Given the description of an element on the screen output the (x, y) to click on. 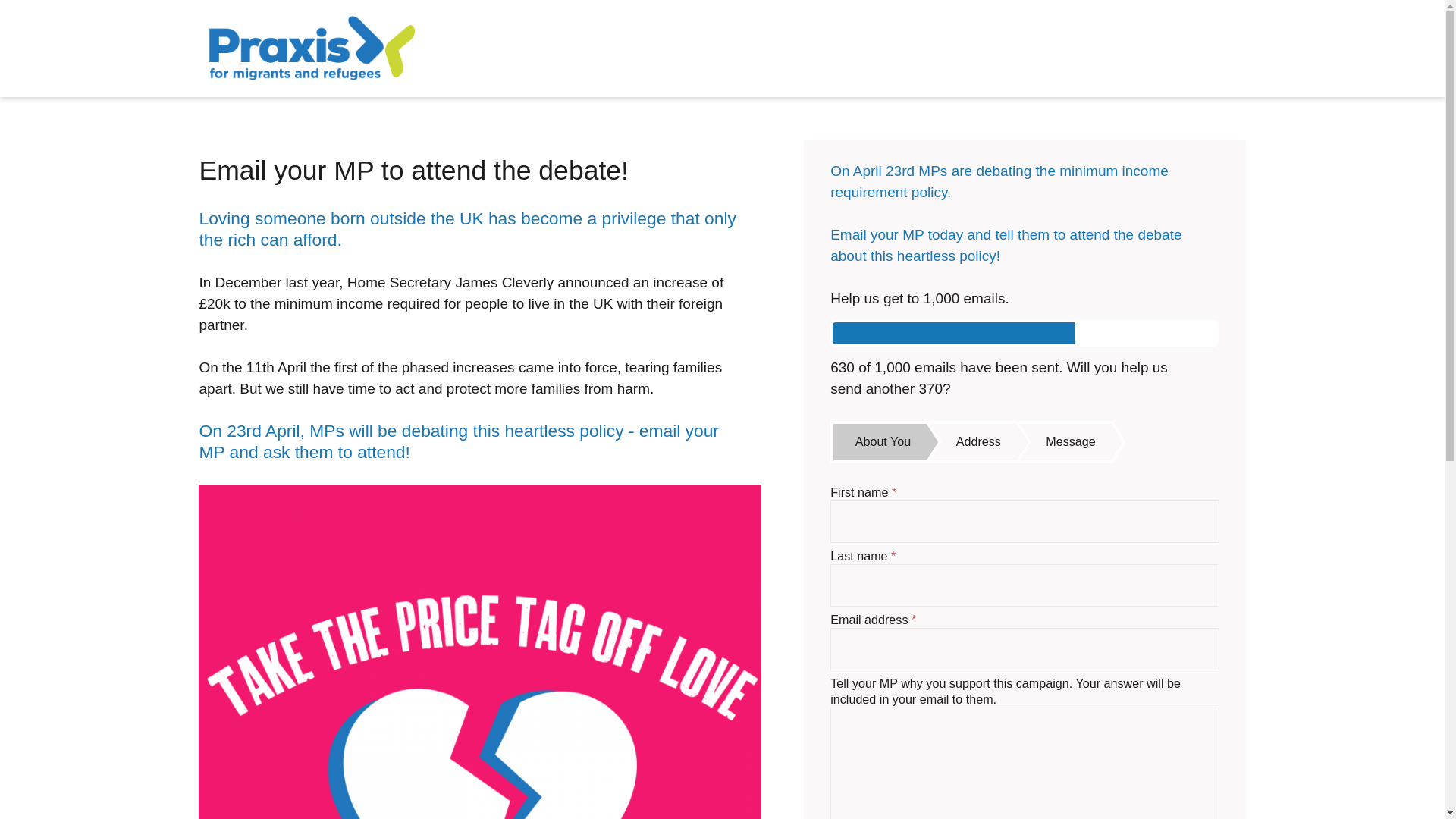
About You (878, 442)
Message (1069, 442)
Address (978, 442)
